Given the description of an element on the screen output the (x, y) to click on. 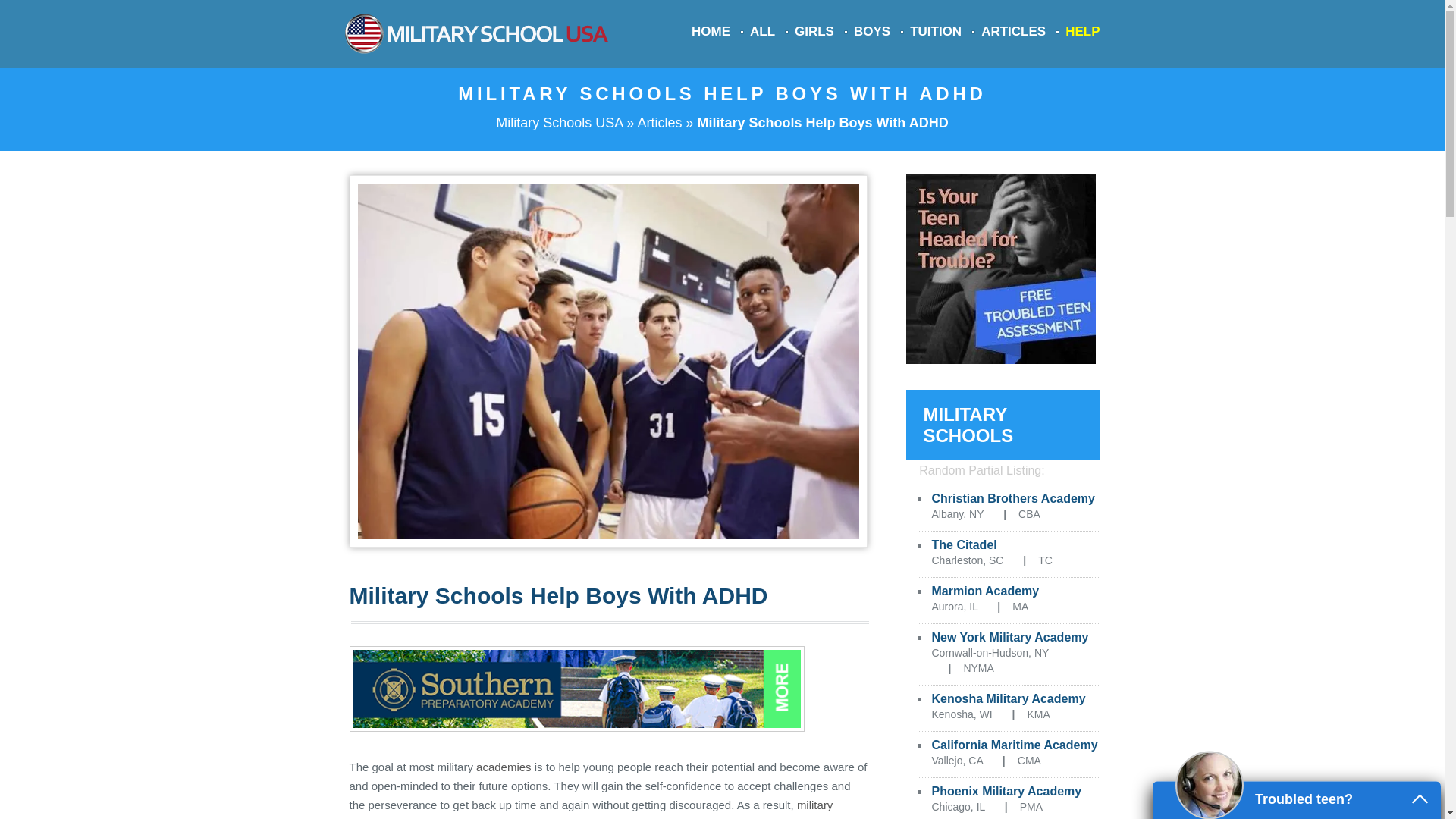
Christian Brothers Academy (1012, 498)
GIRLS (814, 31)
The Citadel (963, 544)
academies (503, 766)
Military Schools USA (559, 122)
BOYS (871, 31)
military schools (590, 808)
TUITION (935, 31)
HELP (1082, 31)
Kenosha Military Academy (1007, 698)
